Given the description of an element on the screen output the (x, y) to click on. 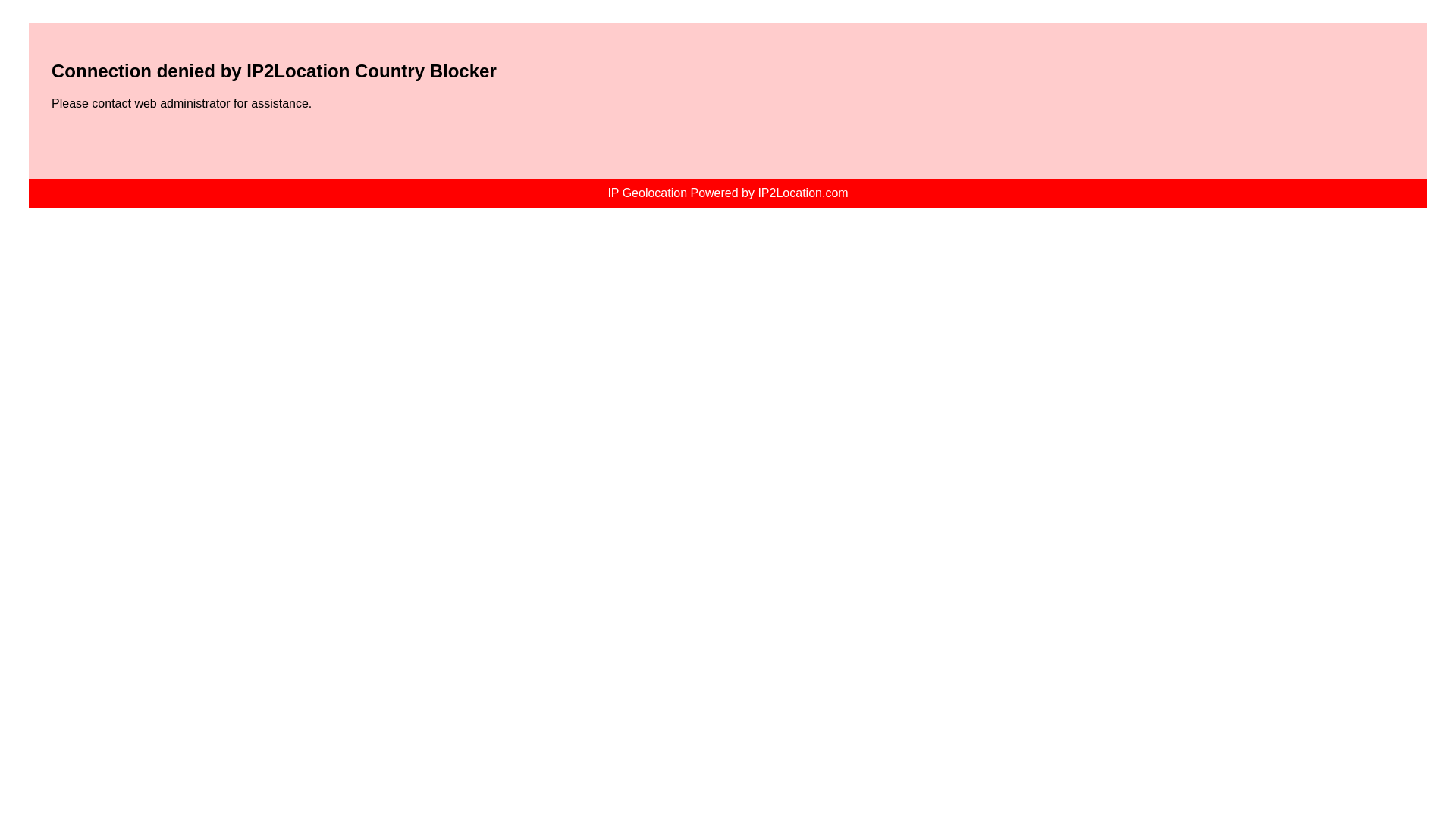
IP Geolocation Powered by IP2Location.com (727, 192)
